Given the description of an element on the screen output the (x, y) to click on. 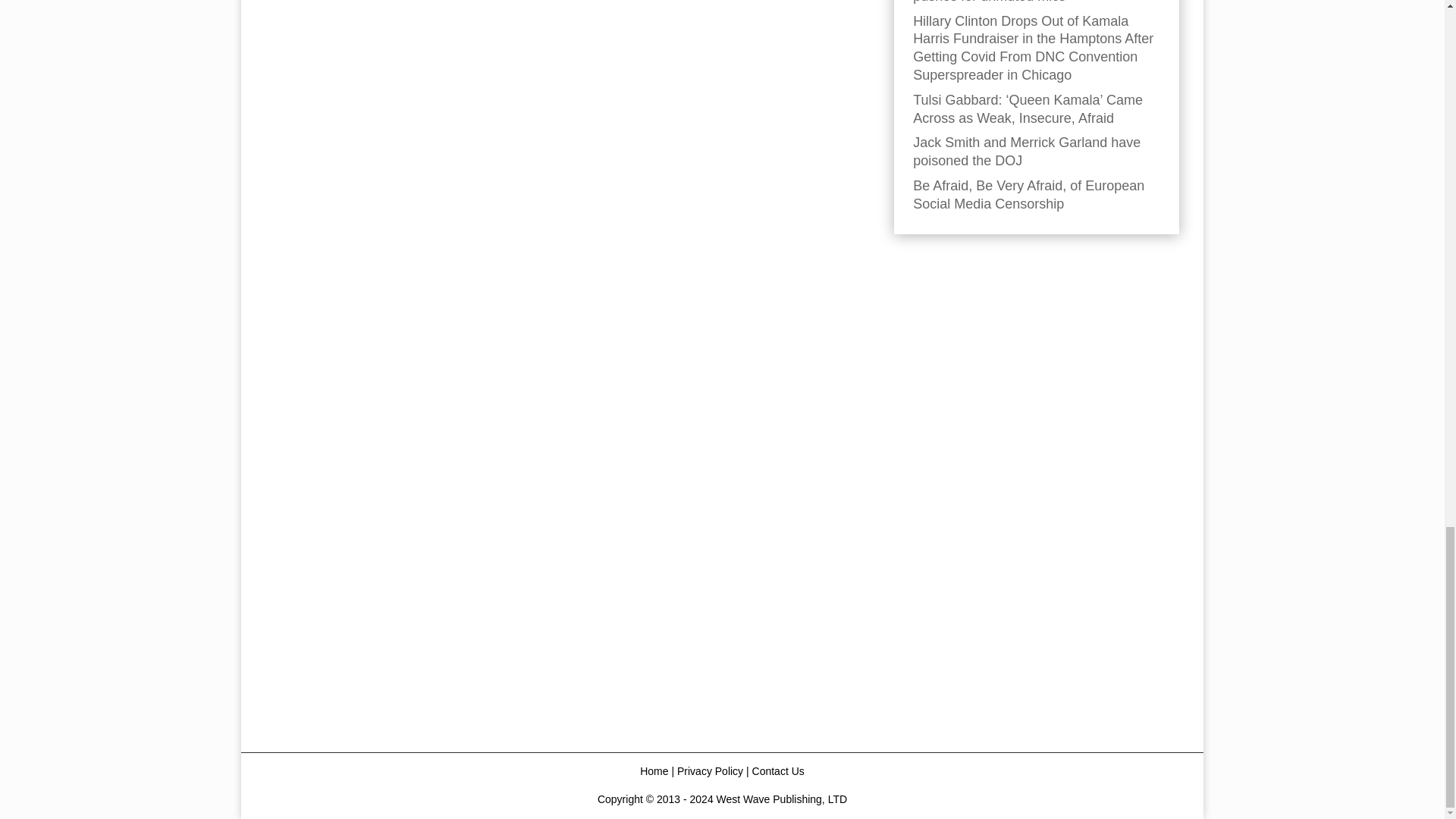
Contact Us (778, 770)
Privacy Policy (709, 770)
Home (654, 770)
Jack Smith and Merrick Garland have poisoned the DOJ (1026, 151)
